Given the description of an element on the screen output the (x, y) to click on. 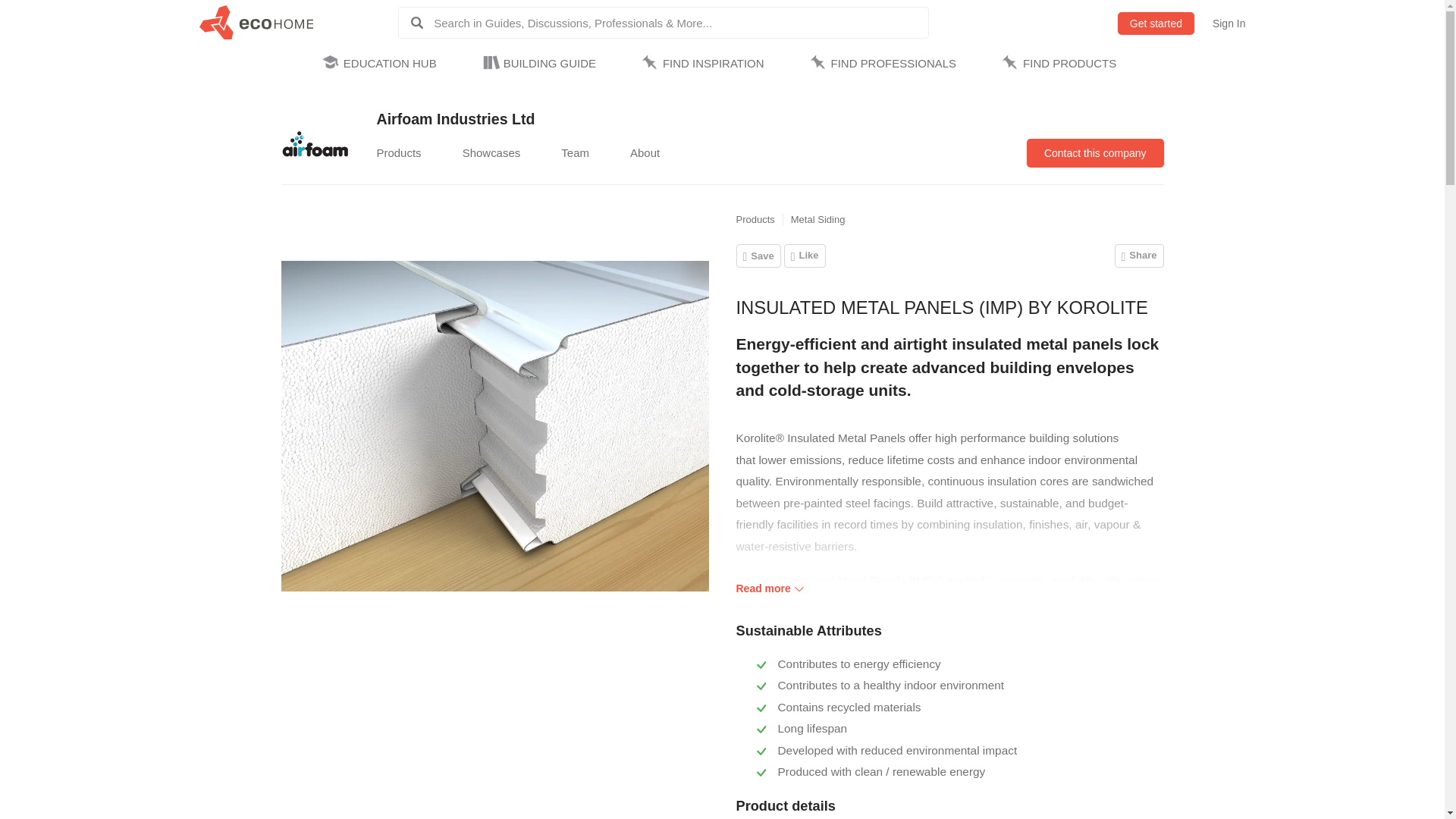
Sign In (1229, 23)
Airfoam Industries Ltd (315, 143)
EDUCATION HUB (382, 63)
Get started (1155, 23)
BUILDING GUIDE (542, 63)
